Given the description of an element on the screen output the (x, y) to click on. 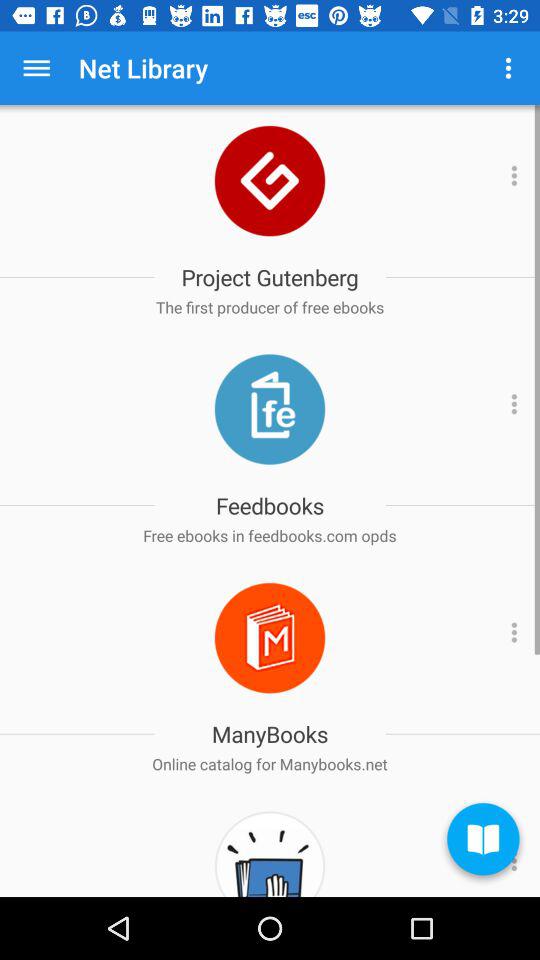
select the app above the the first producer item (269, 277)
